Given the description of an element on the screen output the (x, y) to click on. 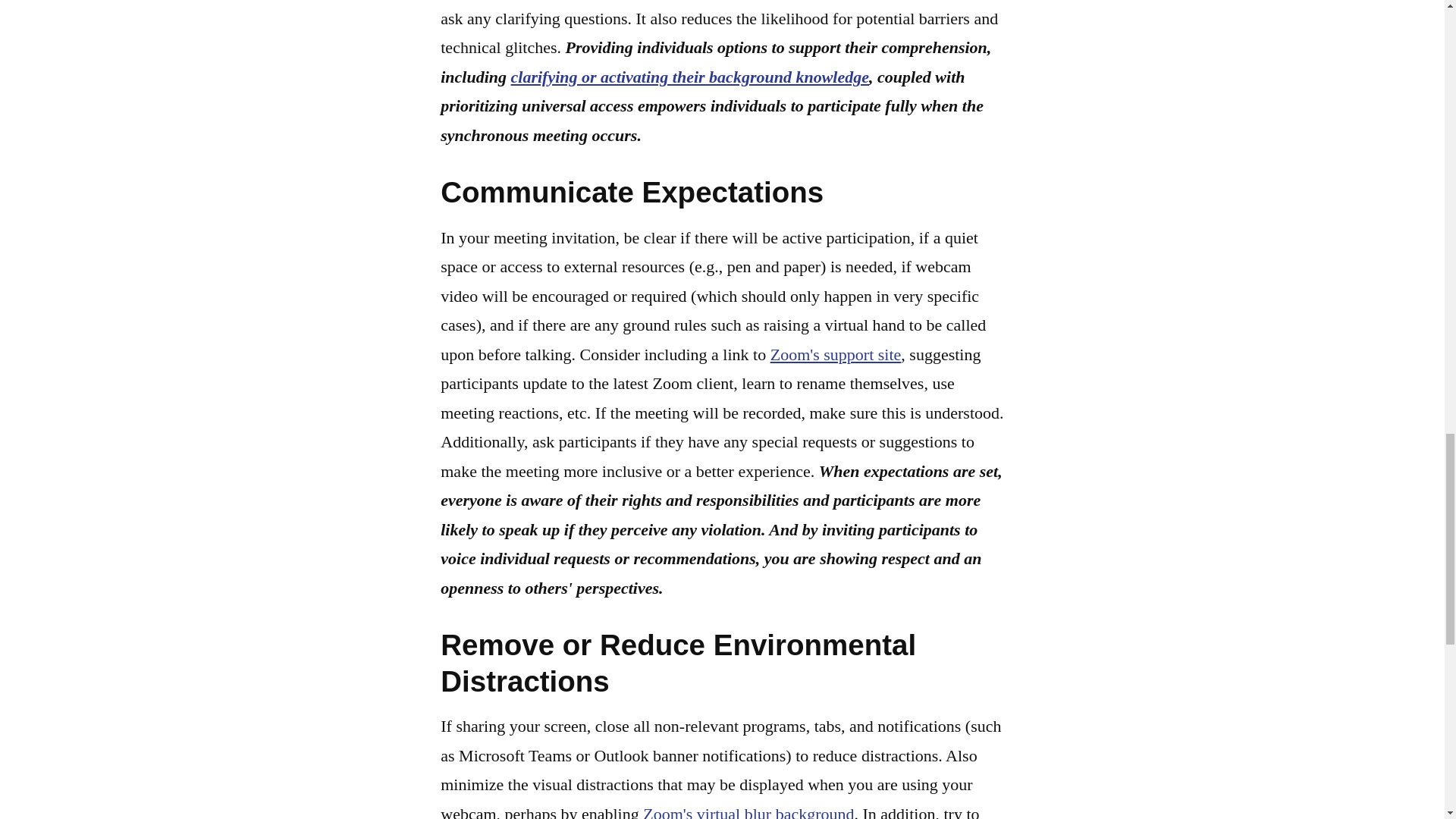
clarifying or activating their background knowledge (690, 76)
Zoom's virtual blur background (748, 811)
Zoom's support site (835, 353)
